Given the description of an element on the screen output the (x, y) to click on. 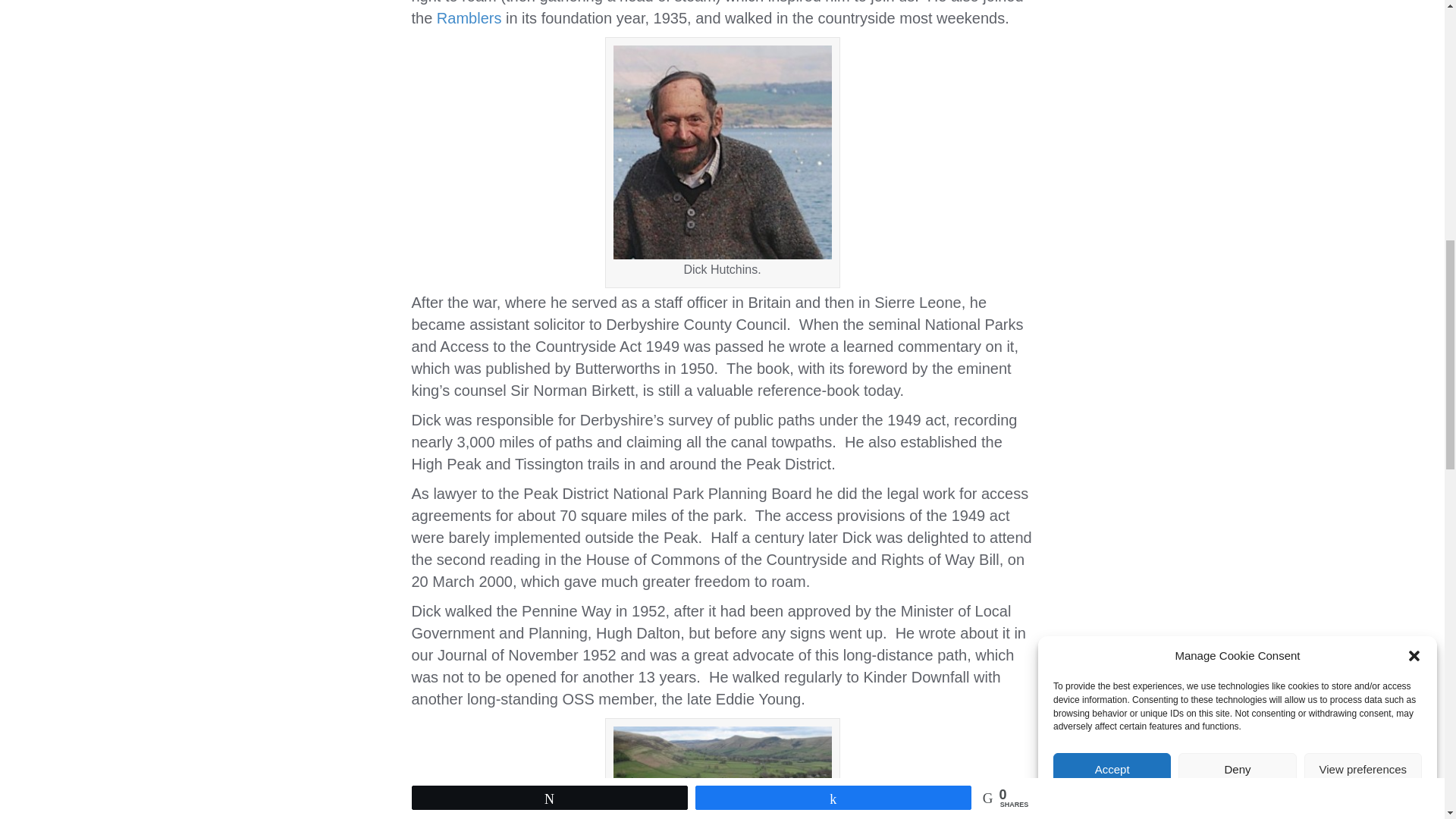
Privacy Statement (1268, 92)
Cookie Policy (1196, 111)
Dick Hutchins web (721, 151)
View preferences (1363, 149)
Accept (1111, 207)
Deny (1236, 177)
Edale valley web (721, 772)
Ramblers (469, 17)
